Given the description of an element on the screen output the (x, y) to click on. 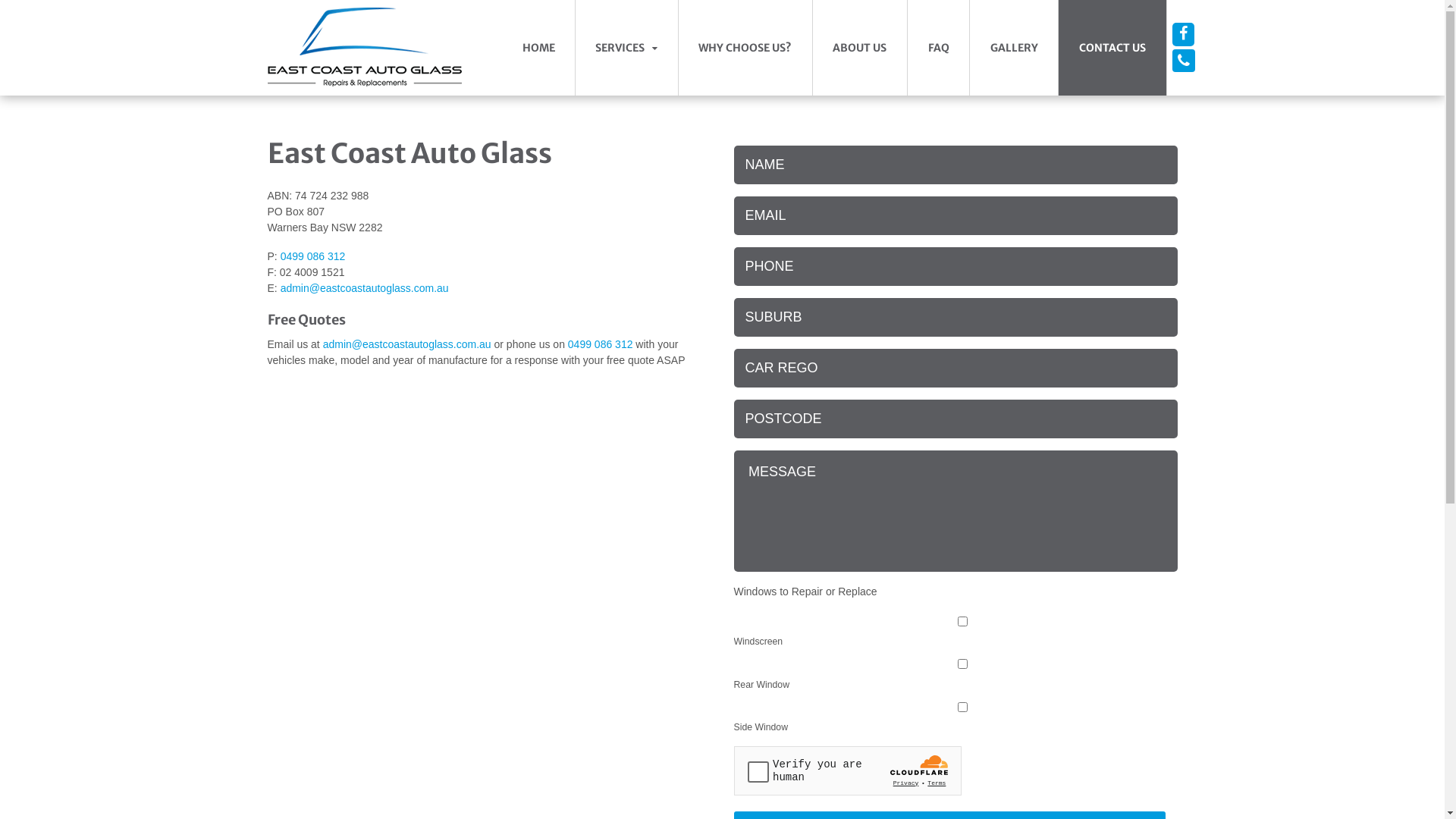
SERVICES Element type: text (626, 47)
0499 086 312 Element type: text (600, 344)
ABOUT US Element type: text (859, 47)
FAQ Element type: text (938, 47)
CONTACT US Element type: text (1111, 47)
Facebook Element type: hover (1183, 34)
GALLERY Element type: text (1013, 47)
0499 086 312 Element type: text (312, 256)
HOME Element type: text (538, 47)
admin@eastcoastautoglass.com.au Element type: text (407, 344)
WHY CHOOSE US? Element type: text (745, 47)
Widget containing a Cloudflare security challenge Element type: hover (847, 770)
admin@eastcoastautoglass.com.au Element type: text (364, 288)
0499 086 312 Element type: text (1183, 56)
